Given the description of an element on the screen output the (x, y) to click on. 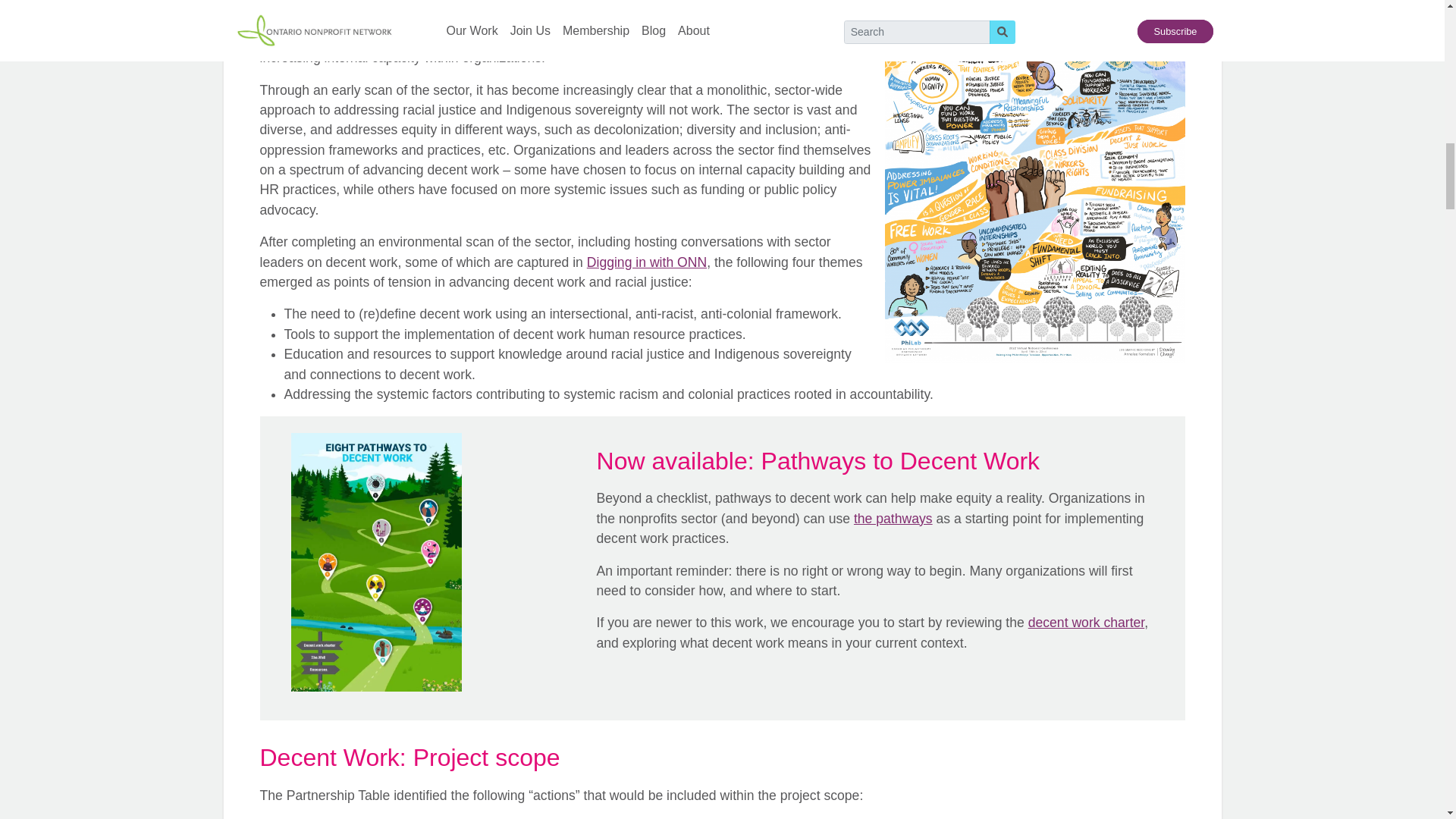
the pathways (893, 518)
Digging in with ONN (646, 262)
decent work charter (1085, 622)
